Given the description of an element on the screen output the (x, y) to click on. 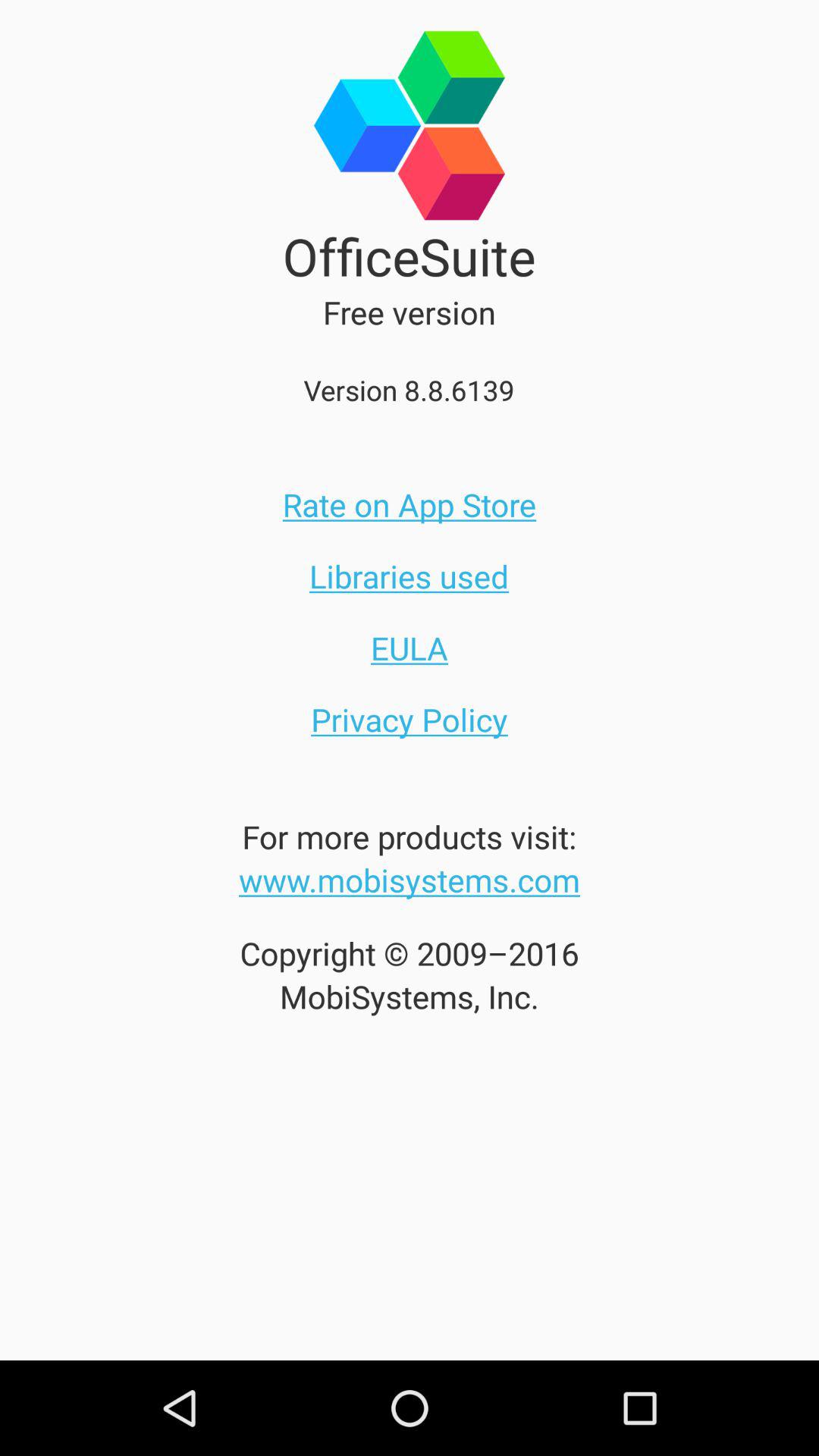
select item below the rate on app item (408, 575)
